Given the description of an element on the screen output the (x, y) to click on. 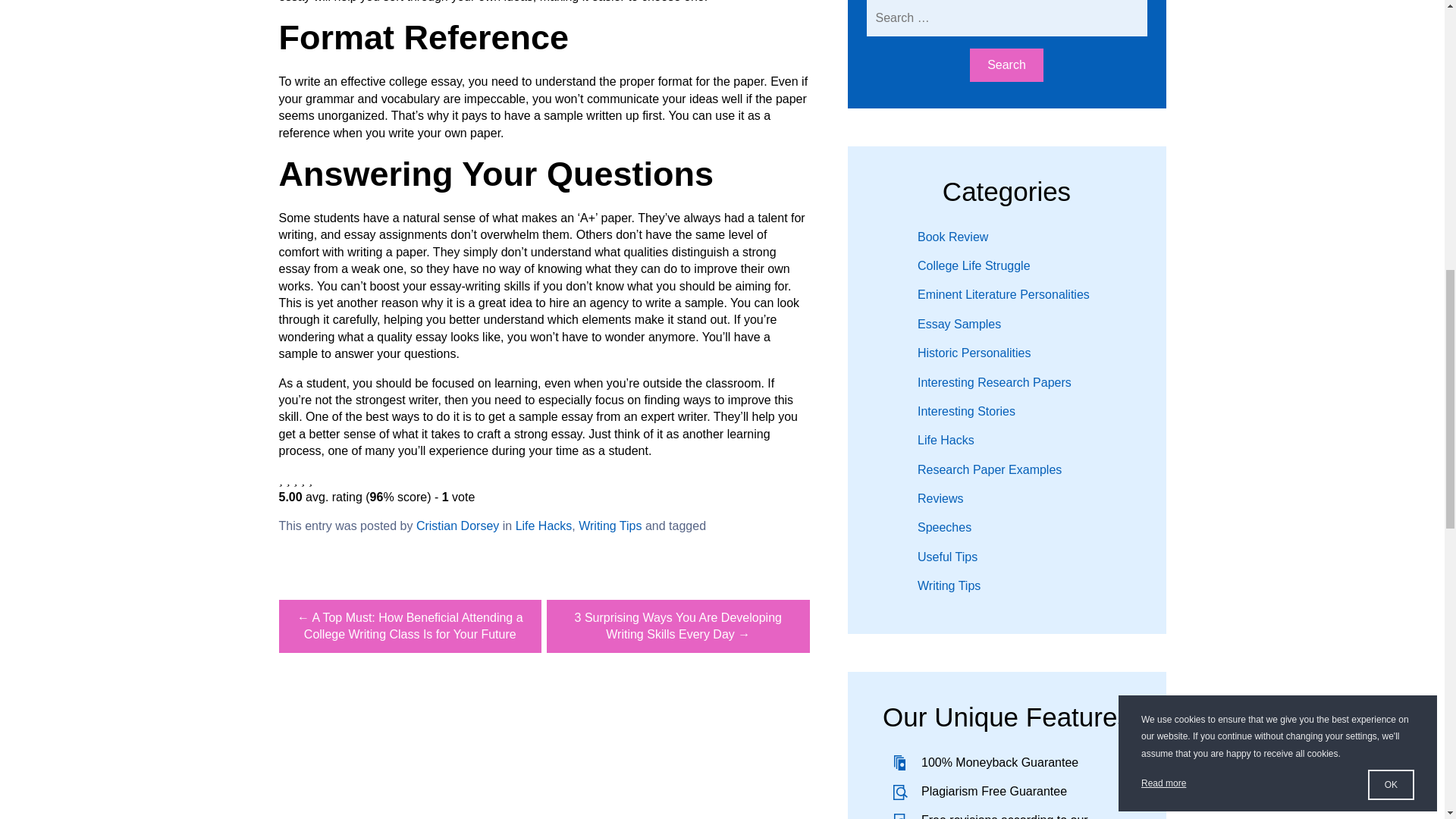
Research Paper Examples (989, 469)
Cristian Dorsey (457, 525)
Writing Tips (610, 525)
Search (1006, 64)
Book Review (952, 236)
Life Hacks (543, 525)
Interesting Stories (965, 410)
Search (1006, 64)
Life Hacks (945, 440)
Search (1006, 64)
